Given the description of an element on the screen output the (x, y) to click on. 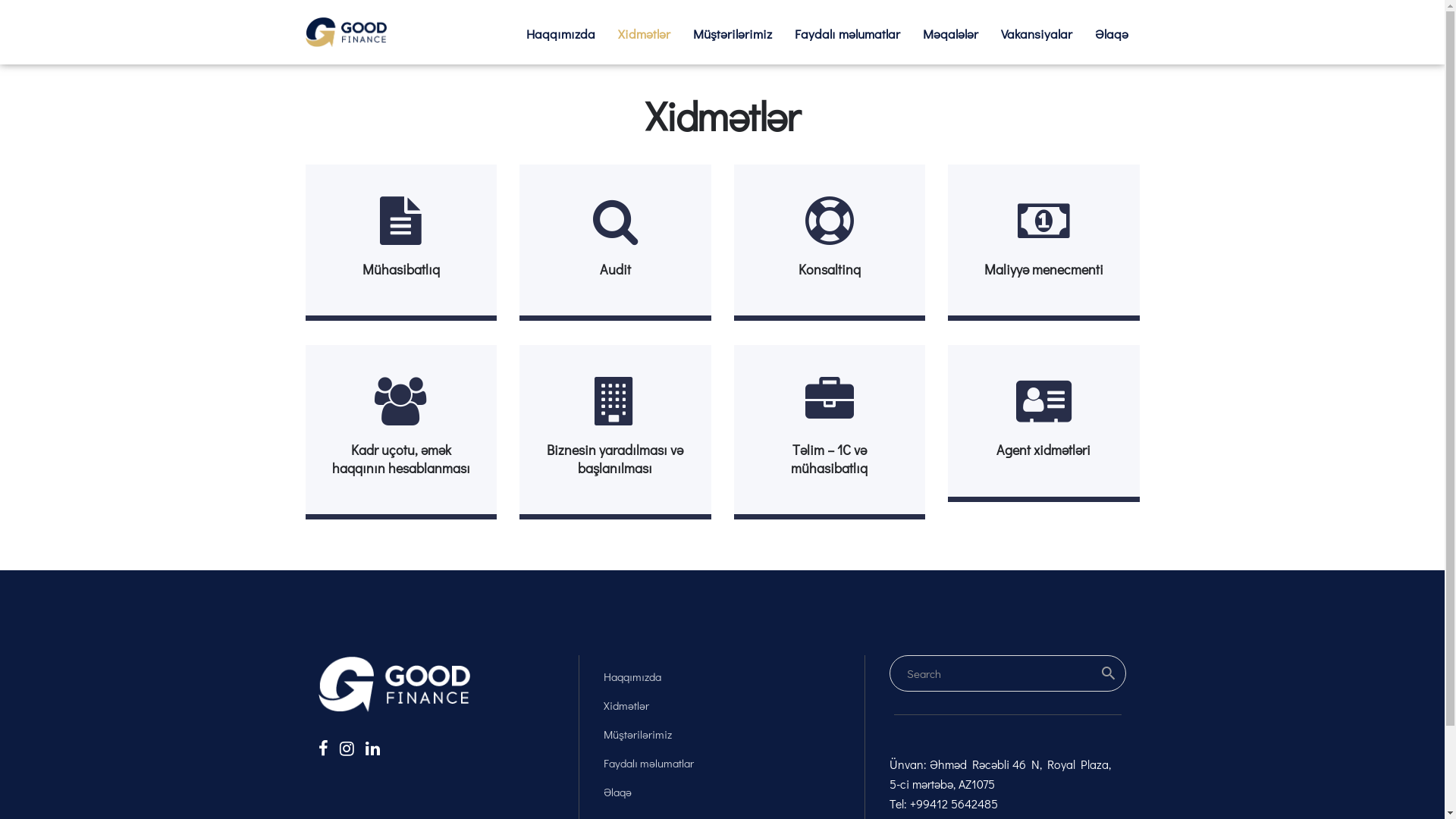
Vakansiyalar Element type: text (1035, 33)
